Given the description of an element on the screen output the (x, y) to click on. 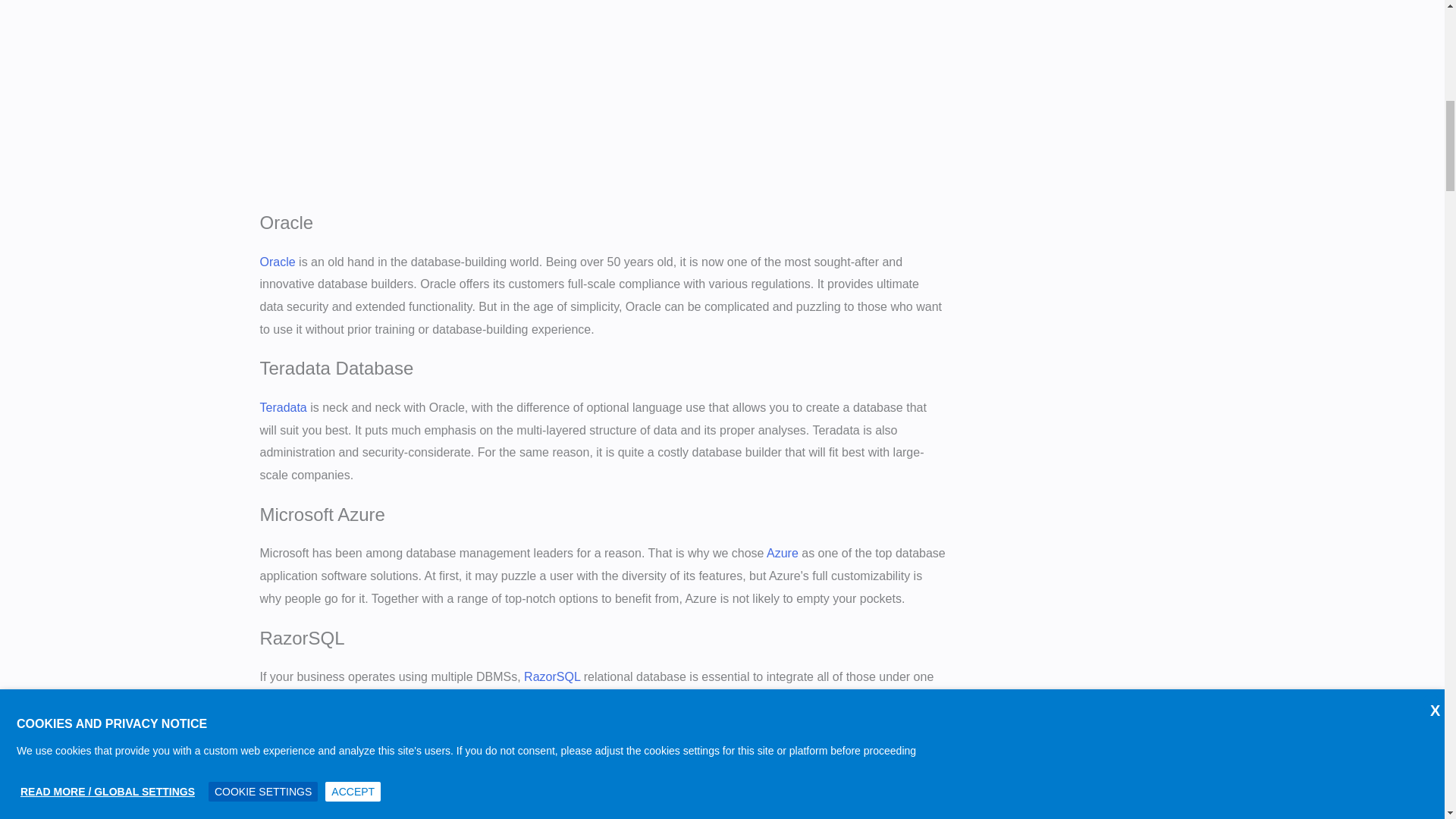
YouTube video player (471, 93)
